Given the description of an element on the screen output the (x, y) to click on. 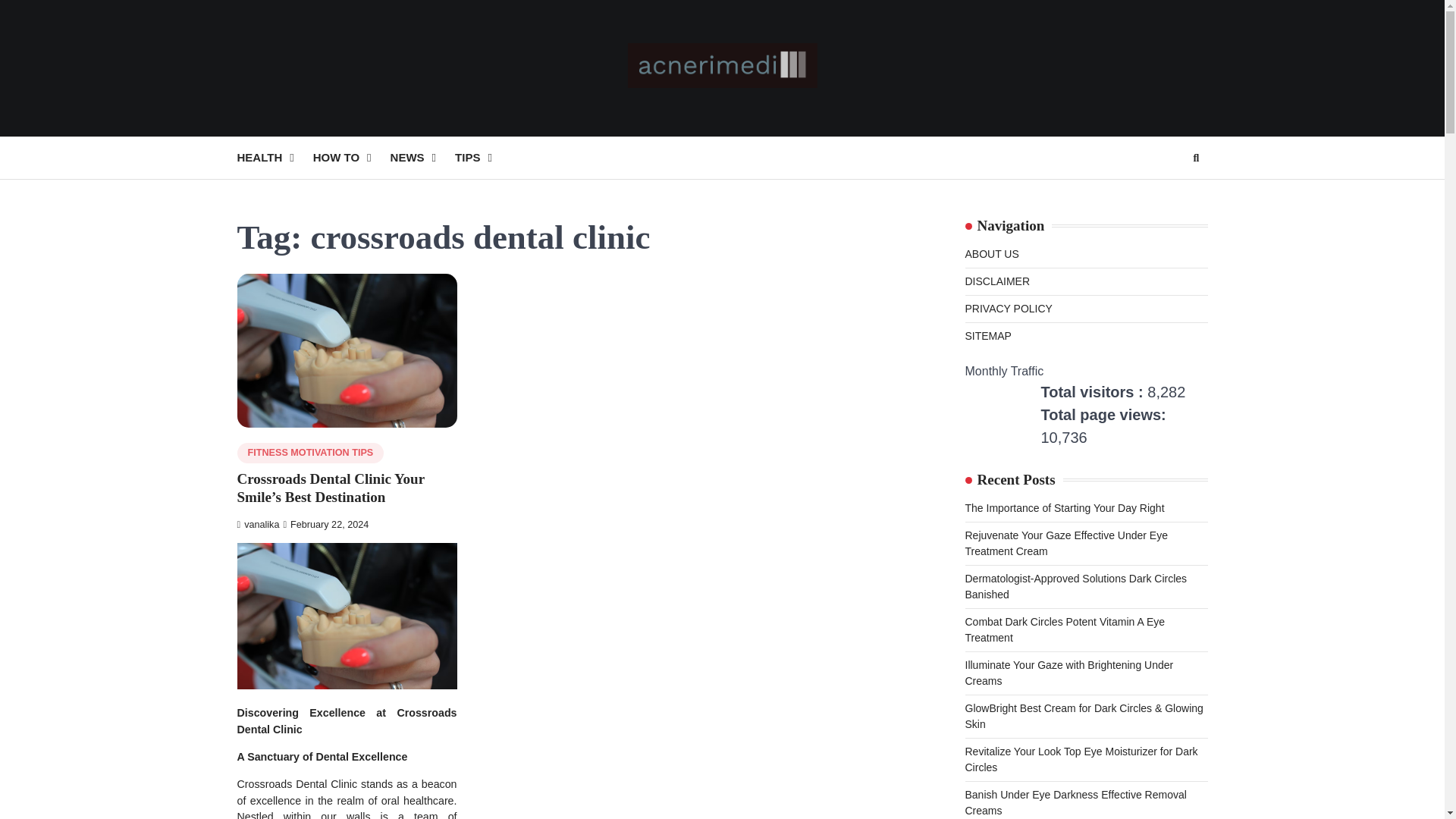
Illuminate Your Gaze with Brightening Under Creams (1068, 673)
vanalika (257, 524)
HEALTH (274, 158)
Search (1168, 194)
DISCLAIMER (996, 281)
February 22, 2024 (325, 524)
Banish Under Eye Darkness Effective Removal Creams (1074, 802)
ABOUT US (990, 254)
Search (1196, 158)
FITNESS MOTIVATION TIPS (309, 453)
HOW TO (351, 158)
TIPS (482, 158)
Dermatologist-Approved Solutions Dark Circles Banished (1074, 586)
Rejuvenate Your Gaze Effective Under Eye Treatment Cream (1065, 543)
Combat Dark Circles Potent Vitamin A Eye Treatment (1063, 629)
